Given the description of an element on the screen output the (x, y) to click on. 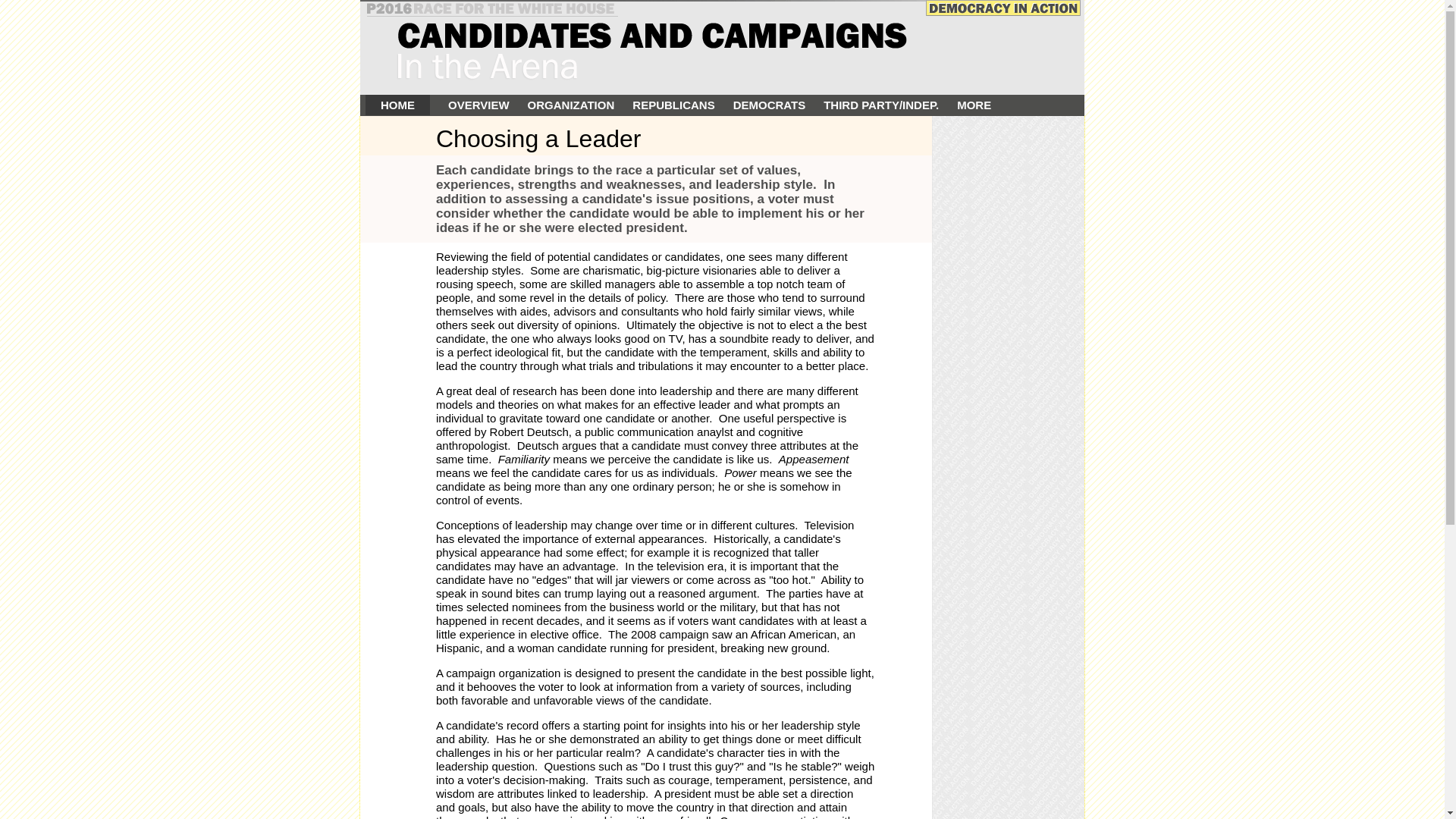
MORE (973, 104)
HOME (397, 104)
ORGANIZATION (570, 104)
REPUBLICANS (672, 104)
OVERVIEW (478, 104)
DEMOCRATS (769, 104)
